Given the description of an element on the screen output the (x, y) to click on. 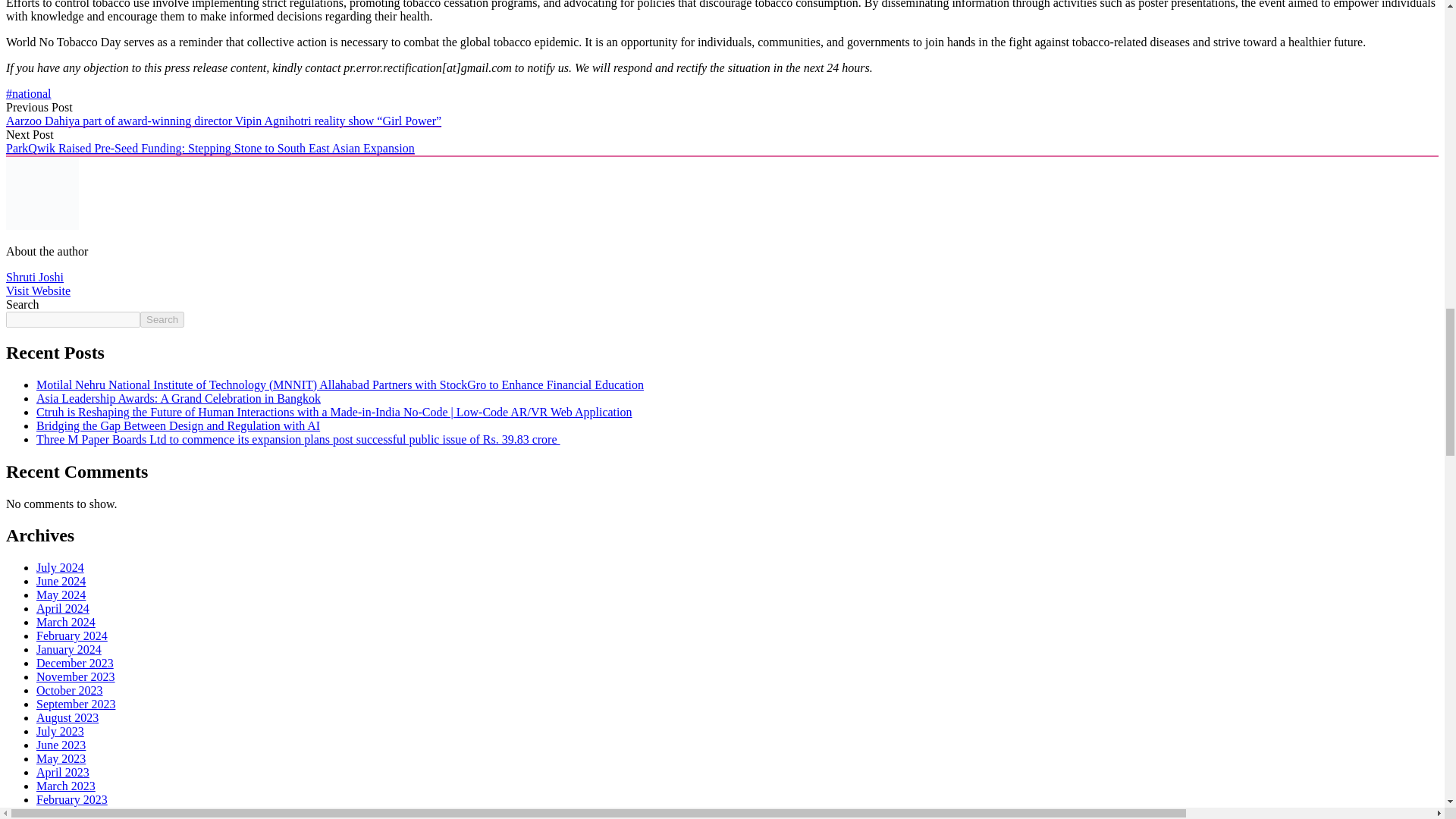
April 2024 (62, 608)
February 2024 (71, 635)
Search (161, 319)
July 2024 (60, 567)
June 2024 (60, 581)
May 2024 (60, 594)
Shruti Joshi (34, 277)
Asia Leadership Awards: A Grand Celebration in Bangkok (178, 398)
March 2024 (66, 621)
Bridging the Gap Between Design and Regulation with AI (178, 425)
Visit Website (37, 290)
